Given the description of an element on the screen output the (x, y) to click on. 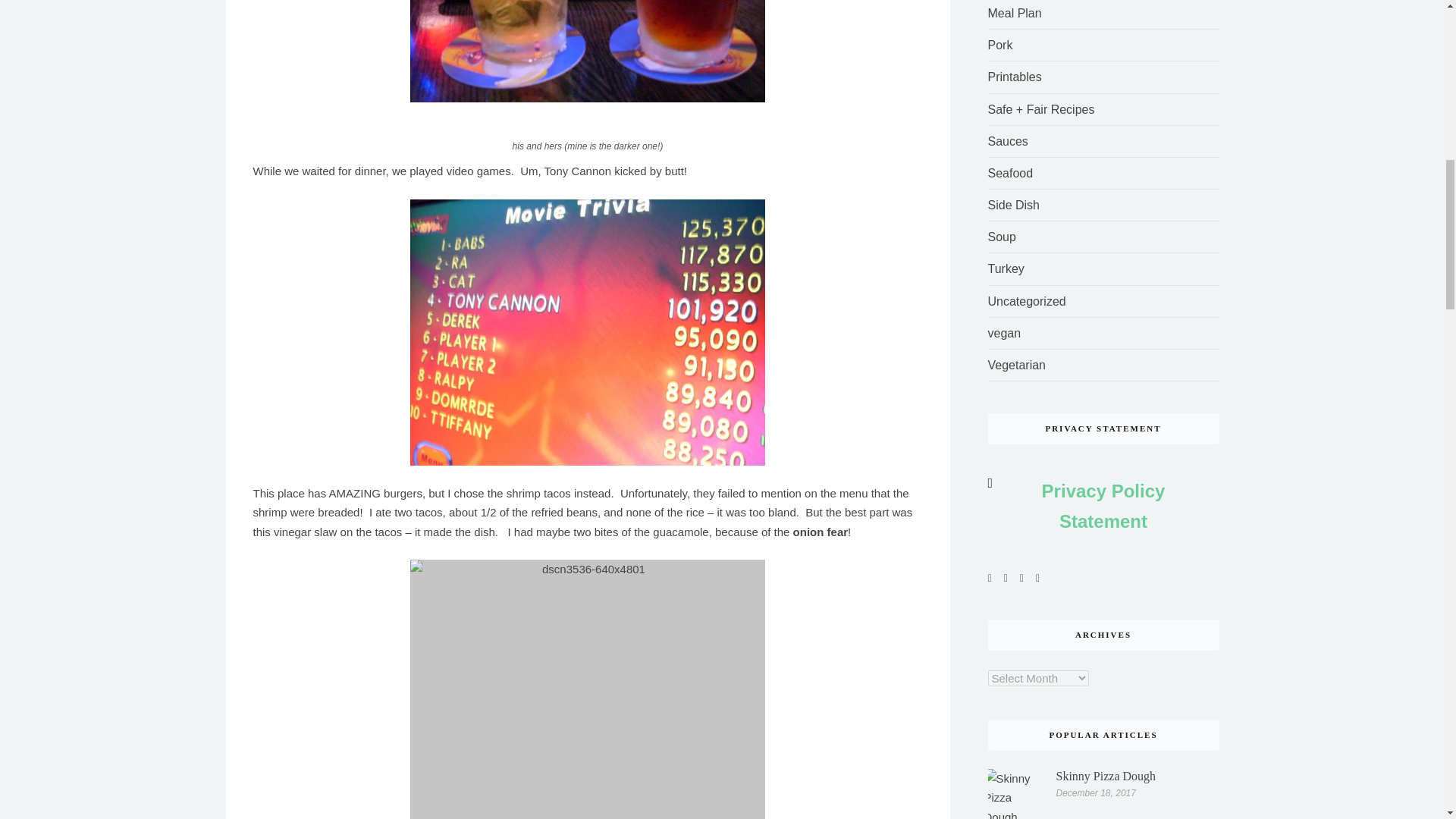
dscn3537-640x480 (587, 332)
dscn3531-640x480 (587, 51)
dscn3536-640x4801 (587, 689)
